Given the description of an element on the screen output the (x, y) to click on. 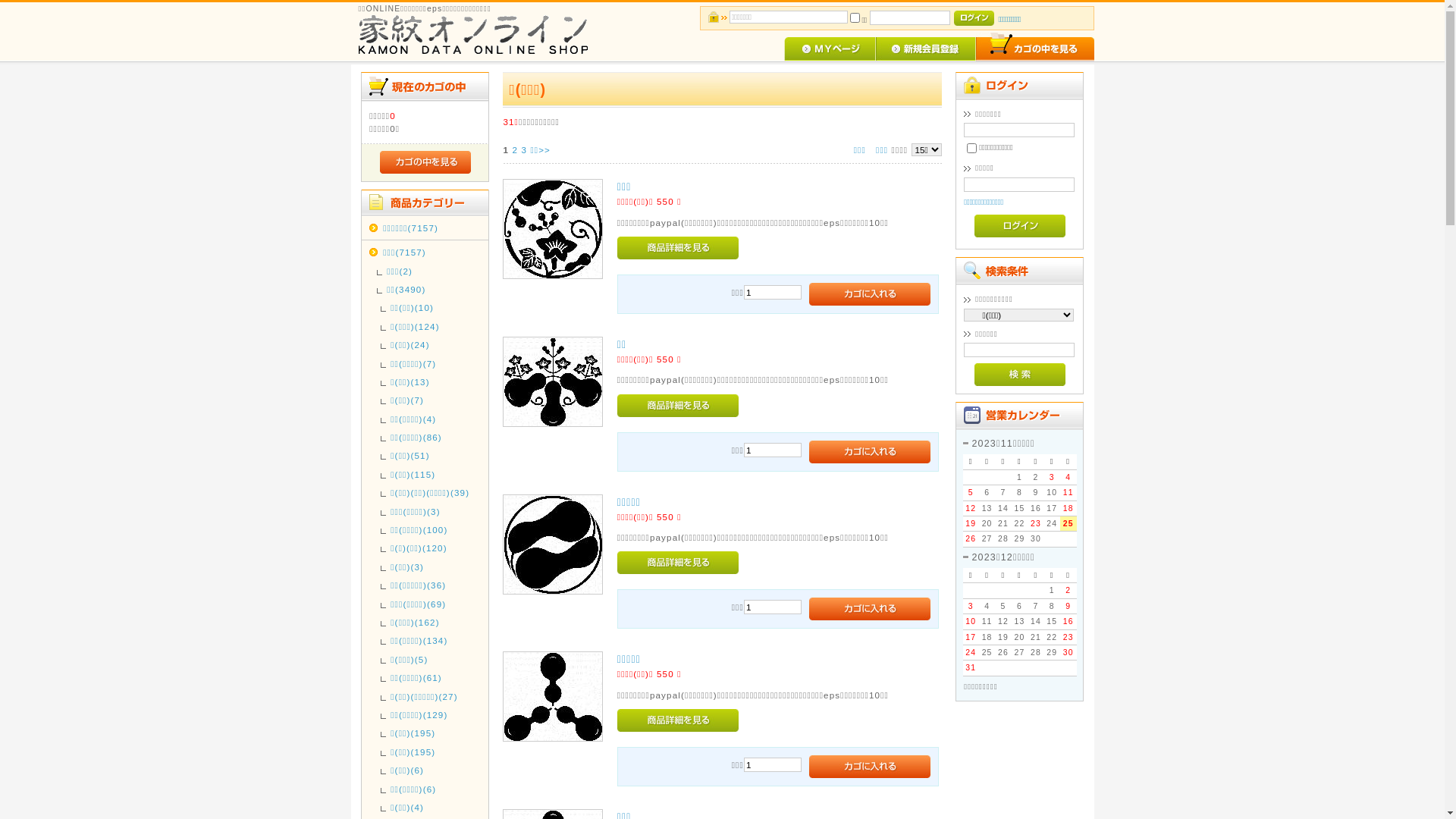
3 Element type: text (523, 149)
2 Element type: text (514, 149)
